Given the description of an element on the screen output the (x, y) to click on. 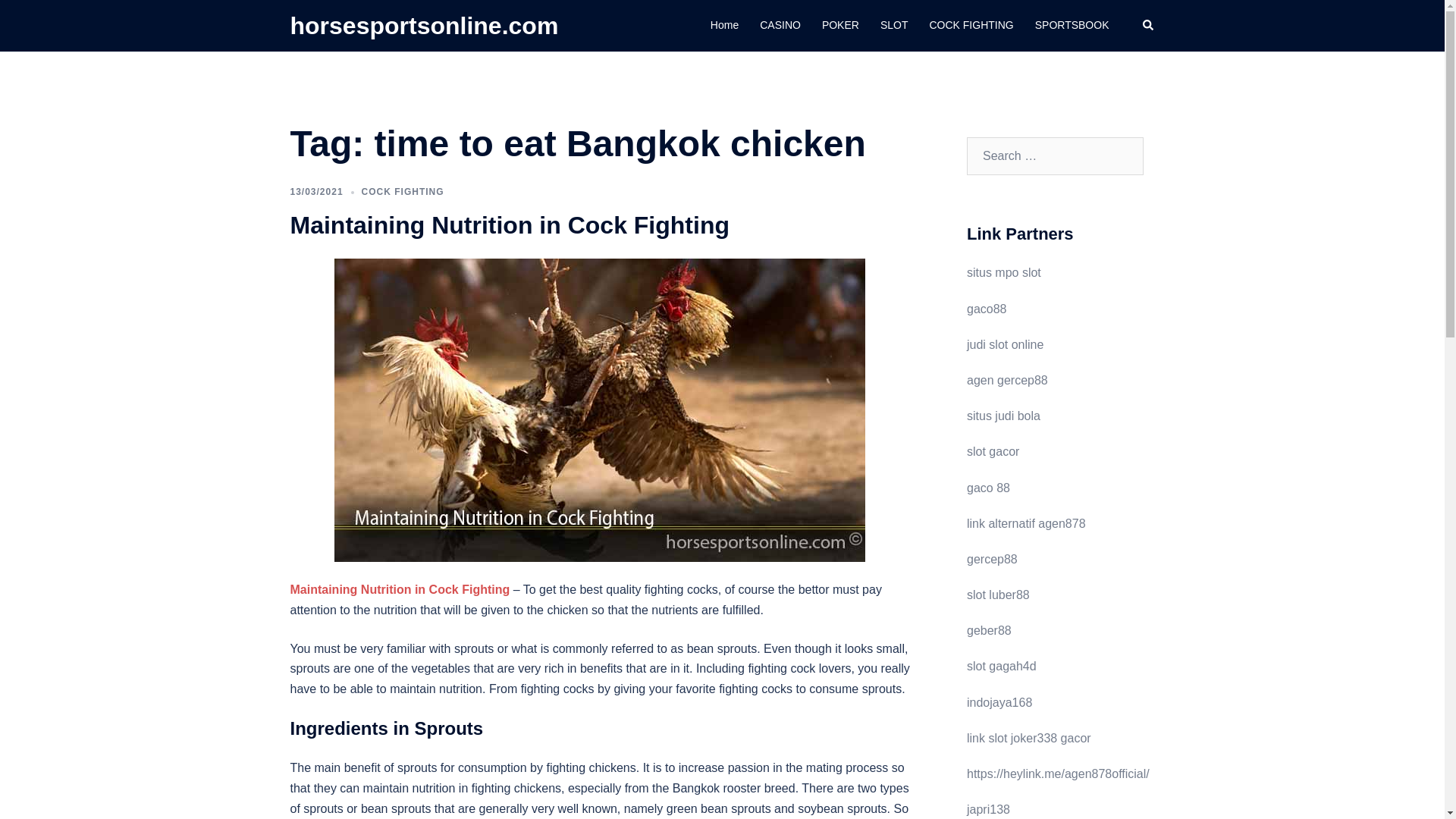
Maintaining Nutrition in Cock Fighting (399, 589)
slot luber88 (997, 594)
judi slot online (1004, 344)
situs mpo slot (1003, 272)
slot gacor (992, 451)
Home (724, 25)
situs judi bola (1003, 415)
gercep88 (991, 558)
COCK FIGHTING (402, 191)
Maintaining Nutrition in Cock Fighting (599, 408)
gaco88 (986, 308)
COCK FIGHTING (970, 25)
agen gercep88 (1007, 379)
SPORTSBOOK (1072, 25)
Maintaining Nutrition in Cock Fighting (509, 225)
